Given the description of an element on the screen output the (x, y) to click on. 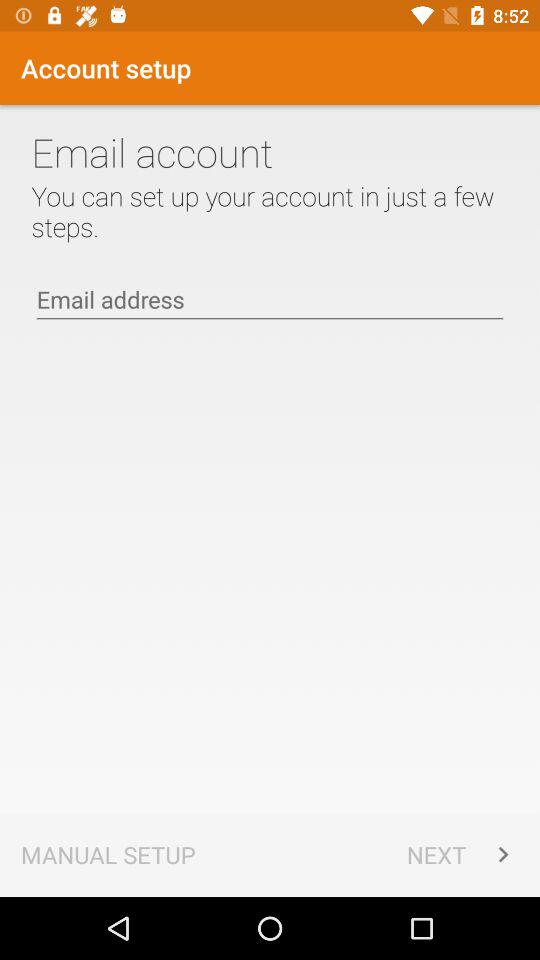
turn off icon at the bottom left corner (108, 854)
